Given the description of an element on the screen output the (x, y) to click on. 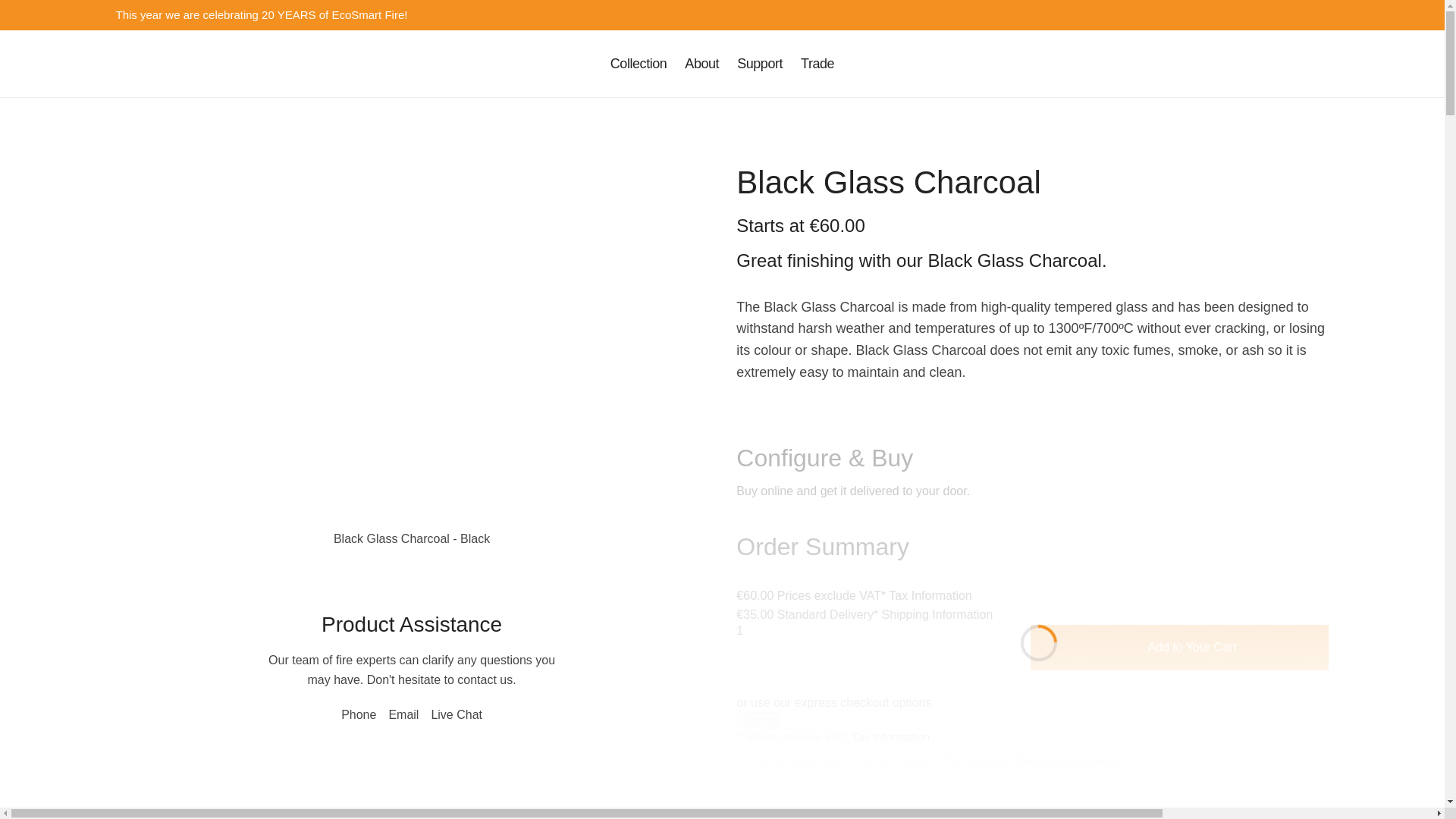
Bio ethanol fireplace, fire pit and fire table resources (701, 63)
Search (1258, 63)
Trade (817, 63)
Sign In (1318, 63)
Collection (638, 63)
Cart (1288, 63)
Contact bio ethanol fireplace specialists (759, 63)
About (701, 63)
Phone (1228, 63)
Support (759, 63)
This year we are celebrating 20 YEARS of EcoSmart Fire! (722, 15)
EcoSmart Fire (181, 63)
Bio ethanol fireplace, fire pit and fire table collection (638, 63)
